Given the description of an element on the screen output the (x, y) to click on. 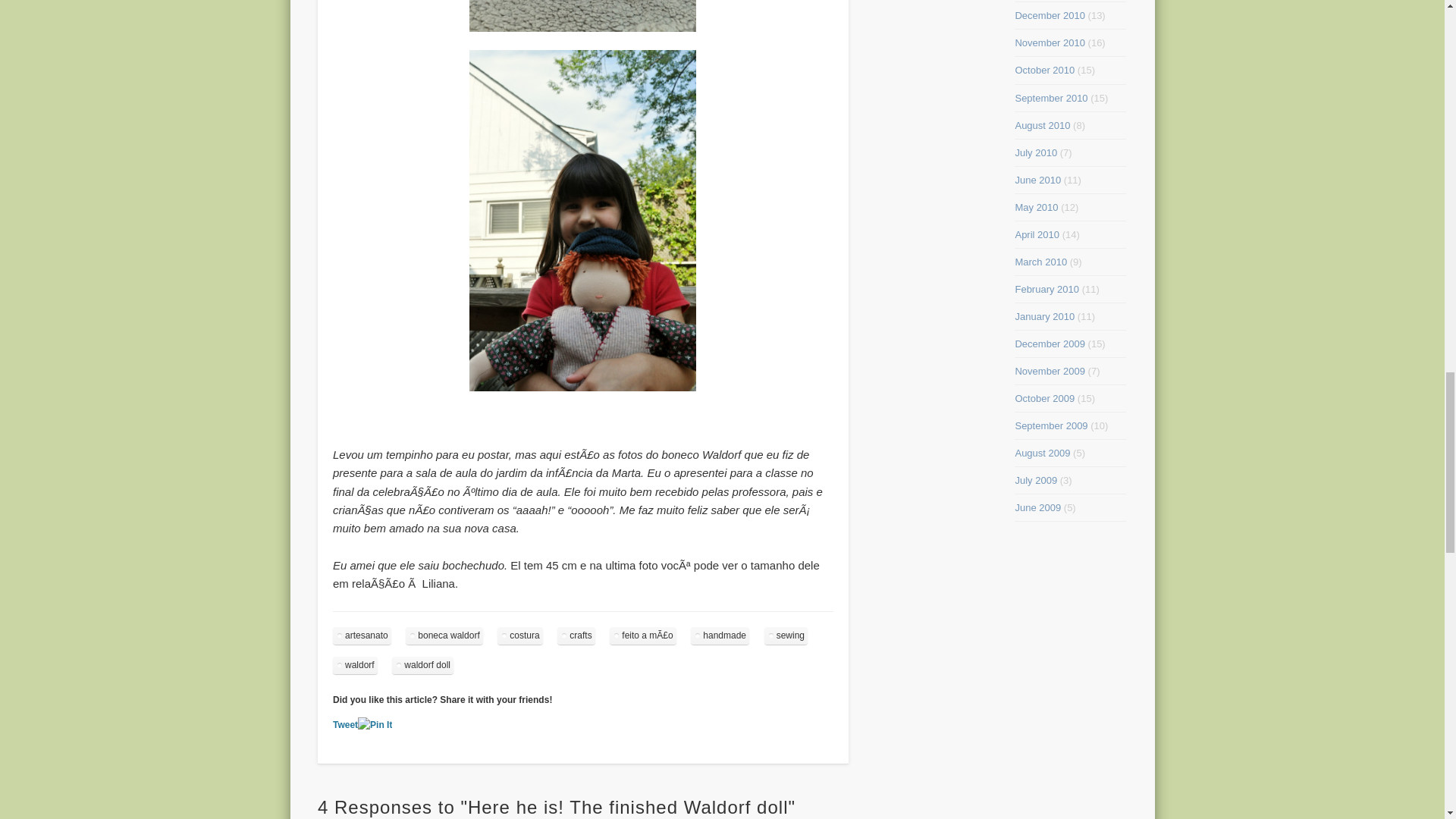
Pin It (374, 725)
boneca waldorf (443, 635)
waldorf (355, 665)
handmade (719, 635)
Tweet (345, 724)
costura (519, 635)
sewing (786, 635)
artesanato (362, 635)
waldorf doll (421, 665)
crafts (575, 635)
